Given the description of an element on the screen output the (x, y) to click on. 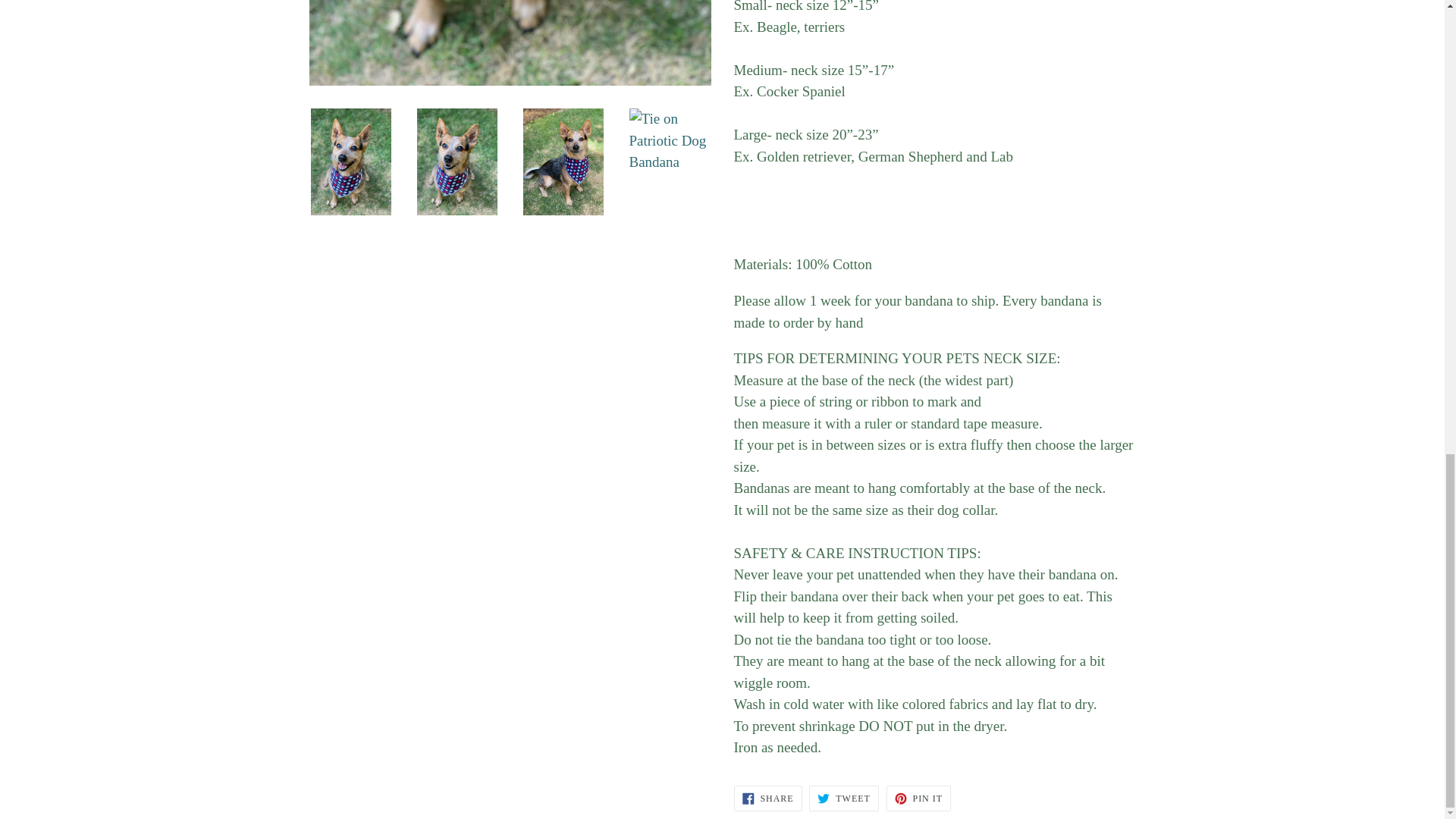
Tweet on Twitter (843, 798)
Share on Facebook (767, 798)
Pin on Pinterest (918, 798)
